Given the description of an element on the screen output the (x, y) to click on. 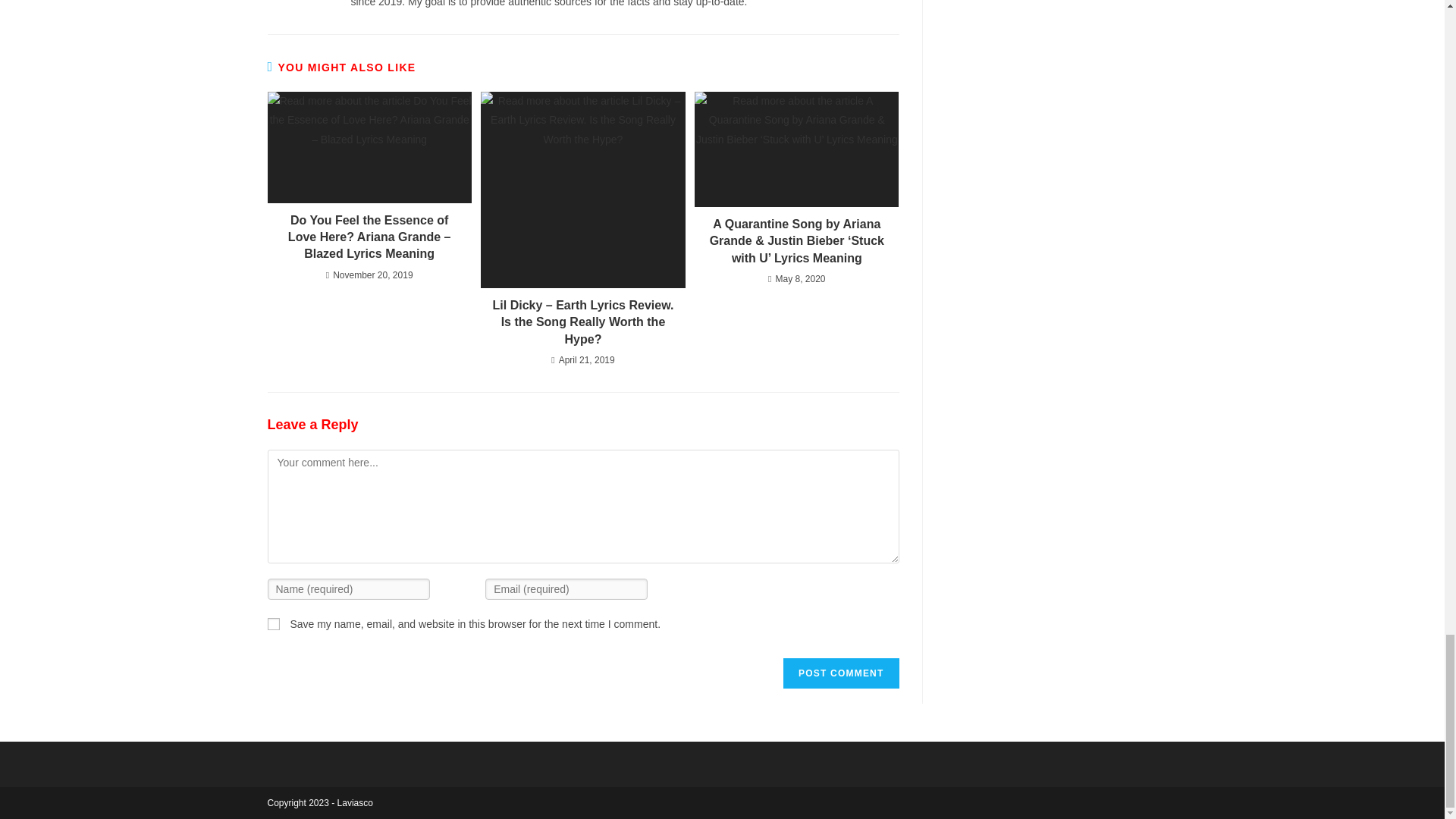
Post Comment (840, 673)
yes (272, 623)
